Given the description of an element on the screen output the (x, y) to click on. 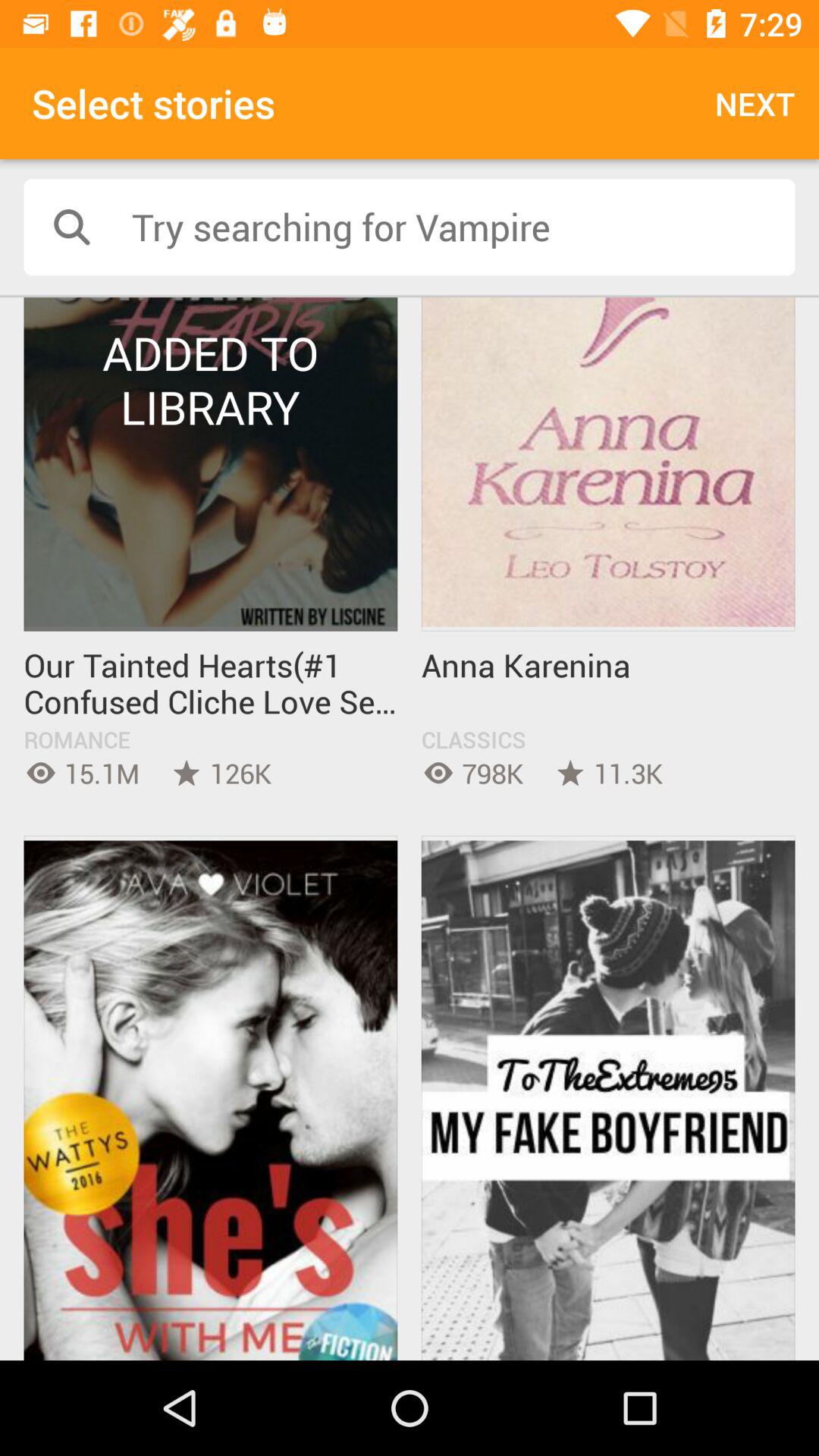
select the star which is beside 126k (186, 772)
select the 4th picture (608, 1097)
